Given the description of an element on the screen output the (x, y) to click on. 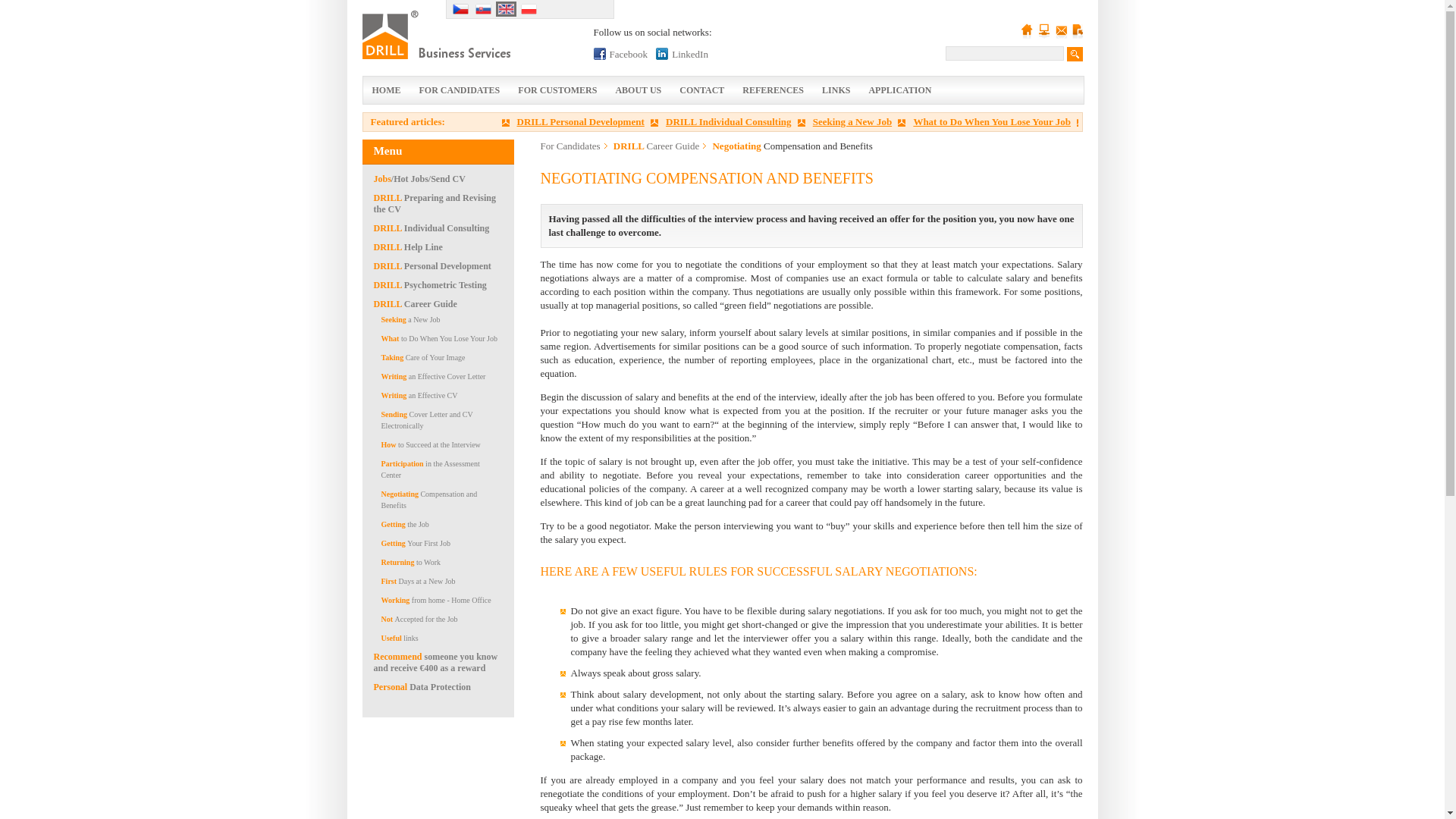
Sitemap (1043, 30)
FOR CANDIDATES (458, 90)
LINKS (835, 90)
What to Do When You Lose Your Job (986, 121)
APPLICATION (899, 90)
Slovensky (483, 8)
Facebook (598, 53)
DRILL Personal Development (431, 266)
DRILL Individual Consulting (722, 121)
DRILL Psychometric Testing (429, 285)
REFERENCES (772, 90)
DRILL Career Guide (414, 303)
CONTACT (701, 90)
Facebook (619, 53)
HOME (385, 90)
